Given the description of an element on the screen output the (x, y) to click on. 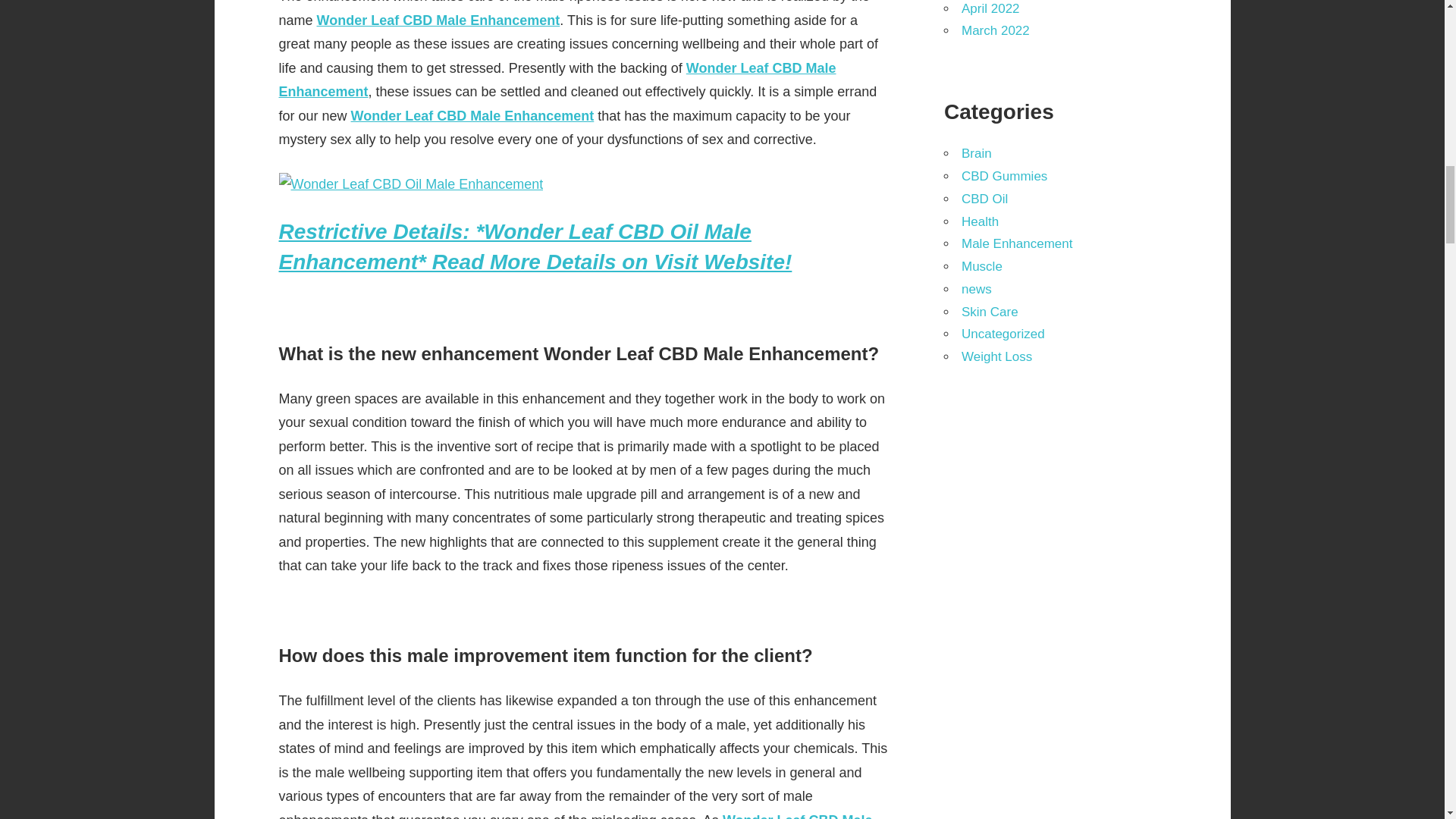
Wonder Leaf CBD Male Enhancement (557, 79)
Wonder Leaf CBD Male Enhancement (438, 20)
Wonder Leaf CBD Male Enhancement (472, 115)
